Given the description of an element on the screen output the (x, y) to click on. 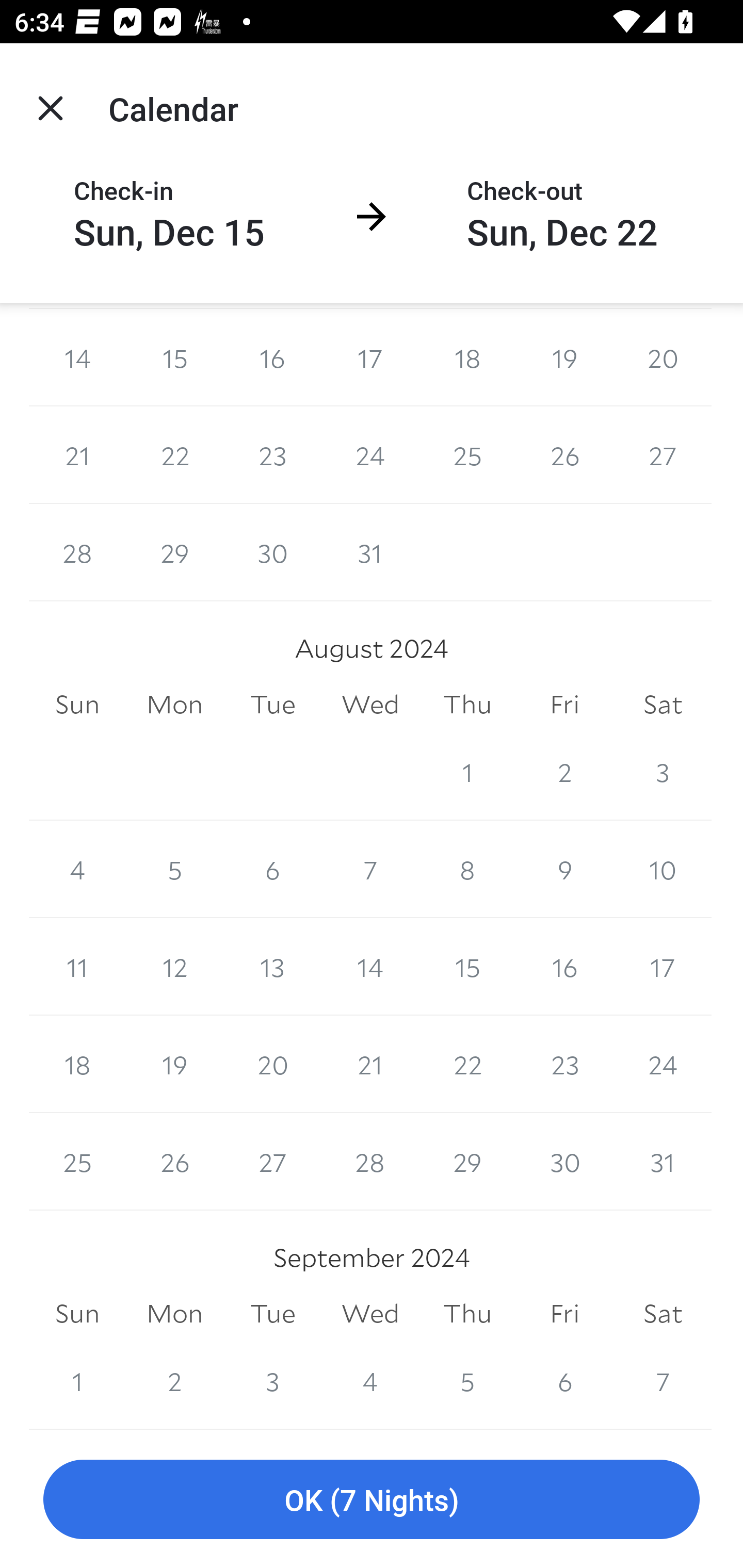
14 14 July 2024 (77, 357)
15 15 July 2024 (174, 357)
16 16 July 2024 (272, 357)
17 17 July 2024 (370, 357)
18 18 July 2024 (467, 357)
19 19 July 2024 (564, 357)
20 20 July 2024 (662, 357)
21 21 July 2024 (77, 454)
22 22 July 2024 (174, 454)
23 23 July 2024 (272, 454)
24 24 July 2024 (370, 454)
25 25 July 2024 (467, 454)
26 26 July 2024 (564, 454)
27 27 July 2024 (662, 454)
28 28 July 2024 (77, 552)
29 29 July 2024 (174, 552)
30 30 July 2024 (272, 552)
31 31 July 2024 (370, 552)
Sun (77, 704)
Mon (174, 704)
Tue (272, 704)
Wed (370, 704)
Thu (467, 704)
Fri (564, 704)
Sat (662, 704)
1 1 August 2024 (467, 771)
2 2 August 2024 (564, 771)
3 3 August 2024 (662, 771)
4 4 August 2024 (77, 869)
5 5 August 2024 (174, 869)
6 6 August 2024 (272, 869)
7 7 August 2024 (370, 869)
8 8 August 2024 (467, 869)
9 9 August 2024 (564, 869)
10 10 August 2024 (662, 869)
11 11 August 2024 (77, 967)
12 12 August 2024 (174, 967)
13 13 August 2024 (272, 967)
14 14 August 2024 (370, 967)
15 15 August 2024 (467, 967)
16 16 August 2024 (564, 967)
17 17 August 2024 (662, 967)
18 18 August 2024 (77, 1064)
19 19 August 2024 (174, 1064)
20 20 August 2024 (272, 1064)
21 21 August 2024 (370, 1064)
22 22 August 2024 (467, 1064)
23 23 August 2024 (564, 1064)
24 24 August 2024 (662, 1064)
